Given the description of an element on the screen output the (x, y) to click on. 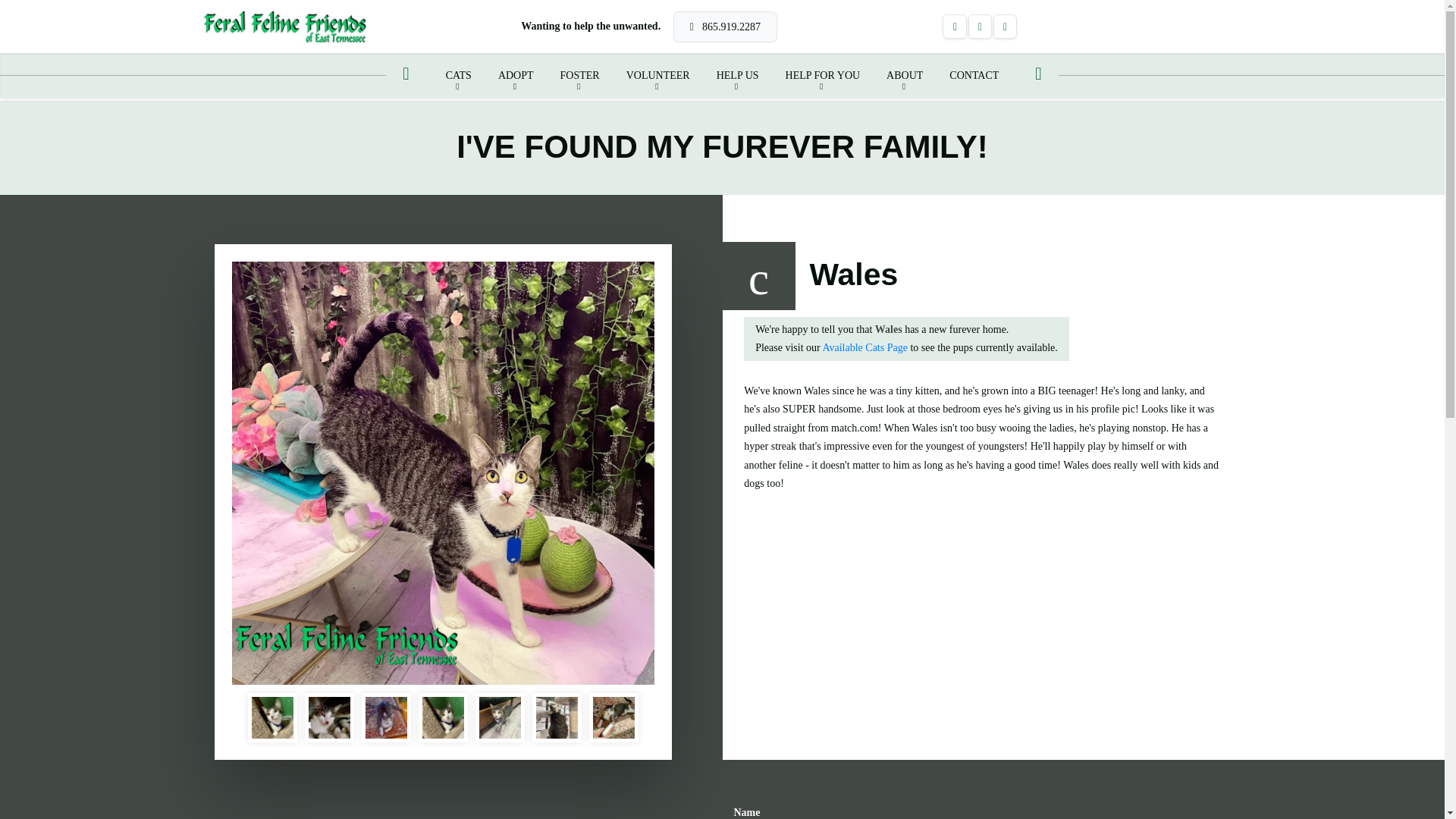
HELP US (737, 75)
DONATE (1207, 26)
Wales (443, 717)
Feral Feline Friends of East Tennessee (284, 26)
Wales (500, 717)
865.919.2287 (725, 26)
VOLUNTEER (657, 75)
CONTACT (973, 75)
ADOPT (515, 75)
Follow Us on Facebook (954, 26)
Wales (613, 717)
FOSTER (579, 75)
Wales (272, 717)
Follow Us on TikTok (1004, 26)
Wales (386, 717)
